Given the description of an element on the screen output the (x, y) to click on. 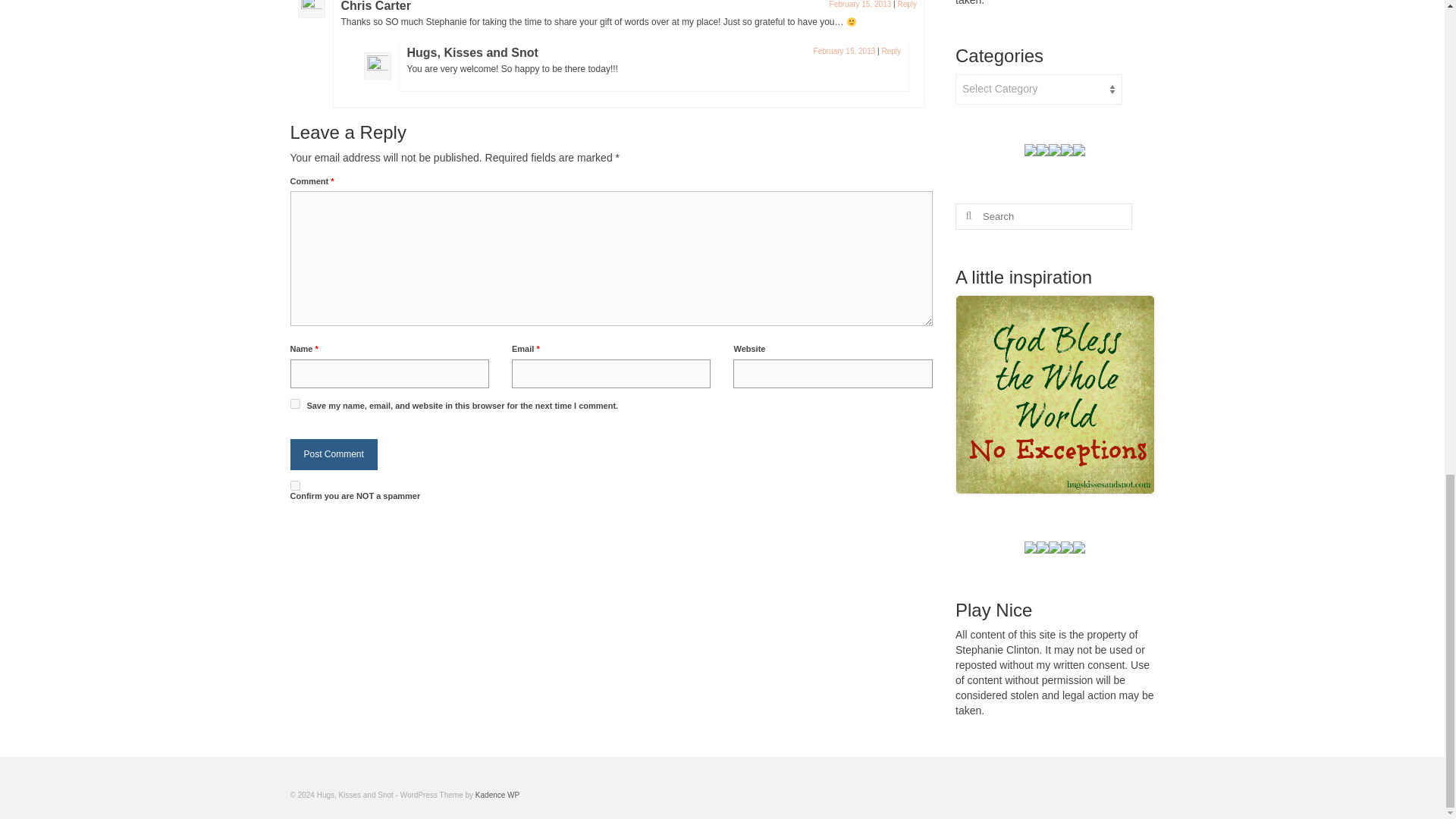
yes (294, 403)
God bless the whole world (1054, 394)
on (294, 485)
Post Comment (333, 454)
